Given the description of an element on the screen output the (x, y) to click on. 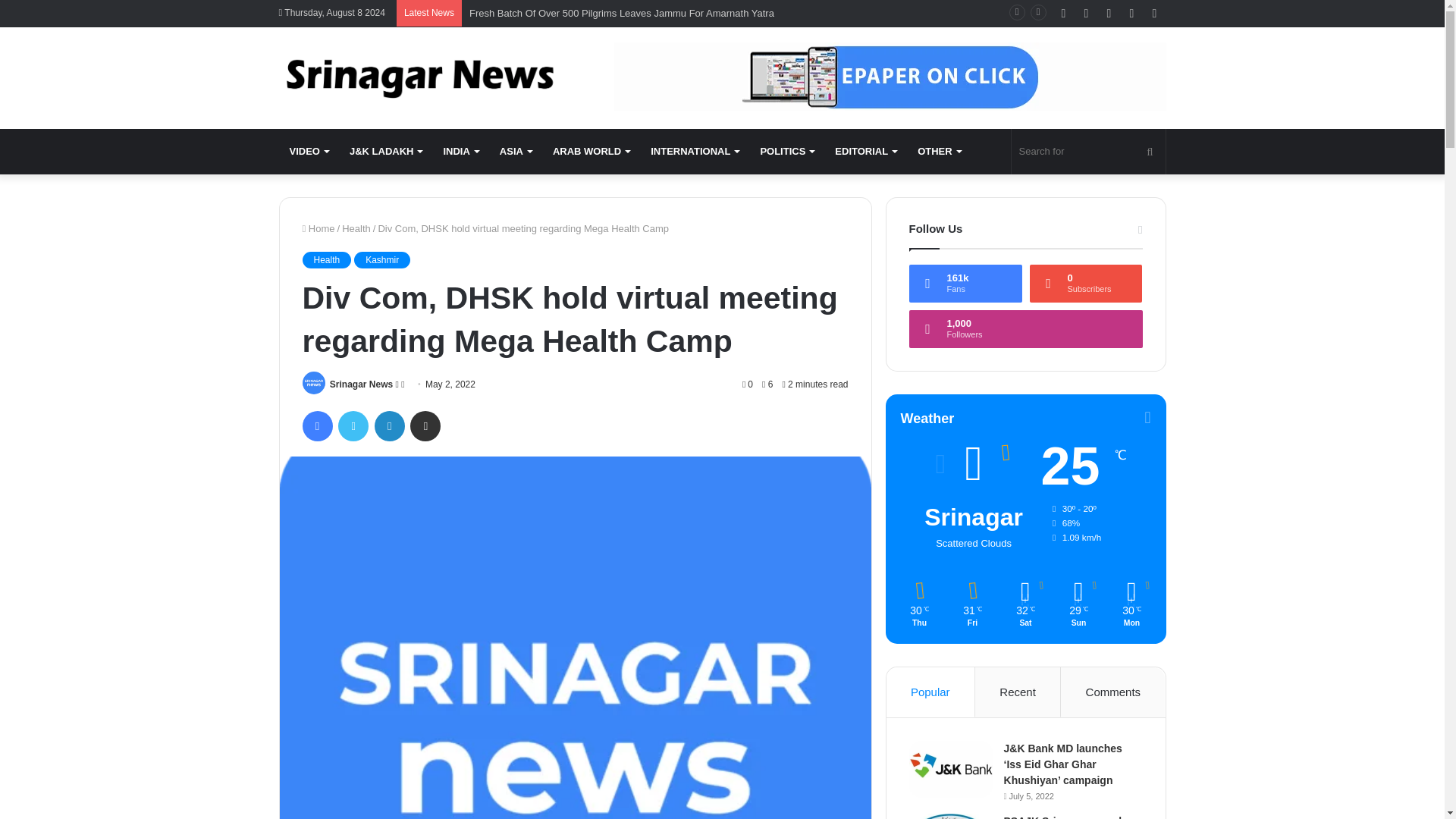
Search for (1088, 151)
Facebook (316, 426)
Health (325, 259)
VIDEO (309, 151)
Srinagar News (361, 384)
OTHER (939, 151)
EDITORIAL (865, 151)
Srinagar News (419, 77)
Twitter (352, 426)
